Given the description of an element on the screen output the (x, y) to click on. 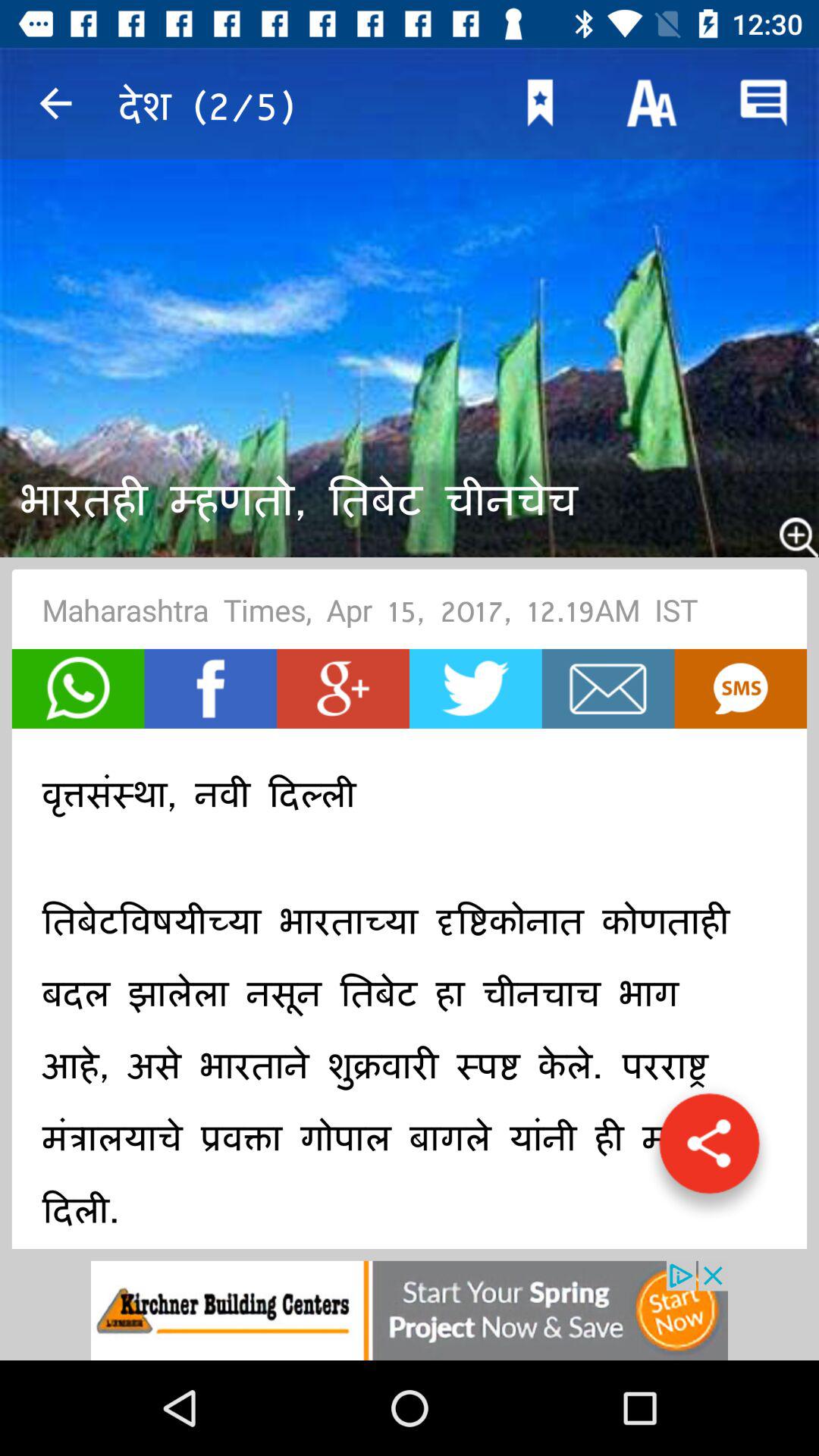
go to home (608, 688)
